Given the description of an element on the screen output the (x, y) to click on. 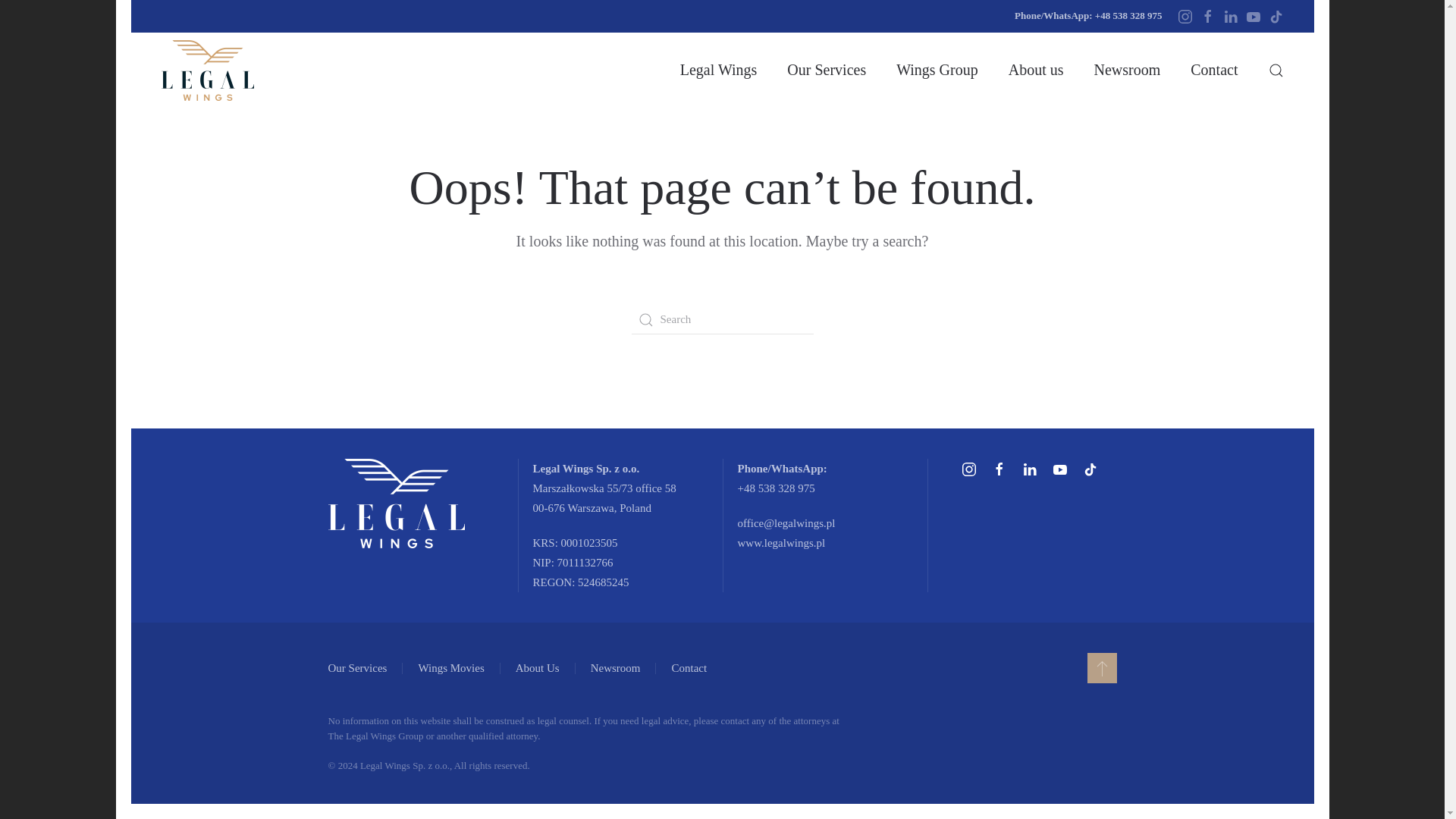
Legal Wings (718, 70)
About us (1036, 70)
Our Services (826, 70)
Contact (698, 668)
Newsroom (1214, 70)
Wings Group (1127, 70)
